Given the description of an element on the screen output the (x, y) to click on. 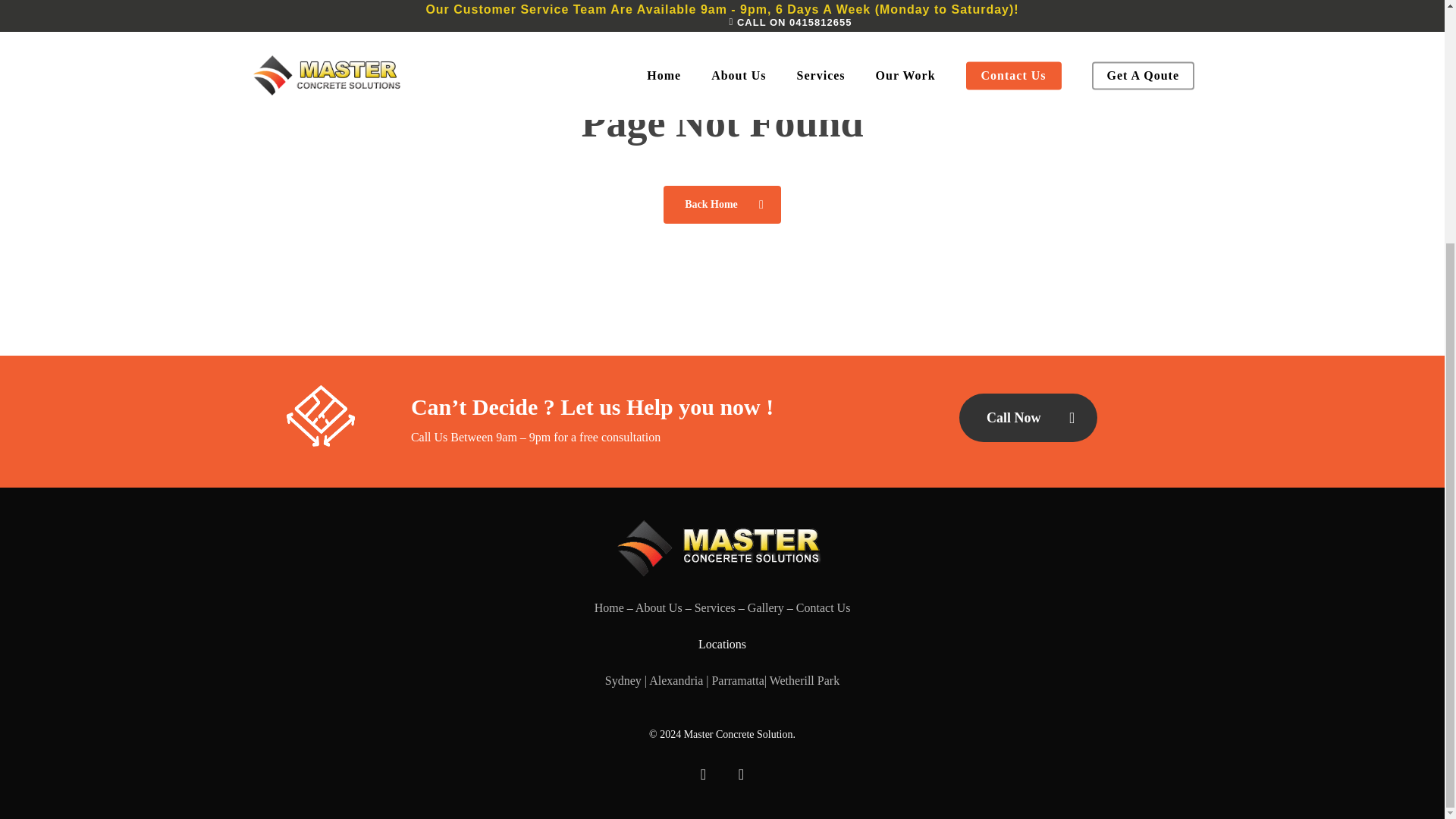
Services (714, 607)
Call Now (1028, 417)
About Us (658, 607)
instagram (740, 773)
Gallery (766, 607)
Back Home (721, 203)
Contact Us (823, 607)
facebook (702, 773)
Parramatta (736, 680)
Wetherill Park (805, 680)
Home (609, 607)
Alexandria (676, 680)
Sydney (625, 680)
